Given the description of an element on the screen output the (x, y) to click on. 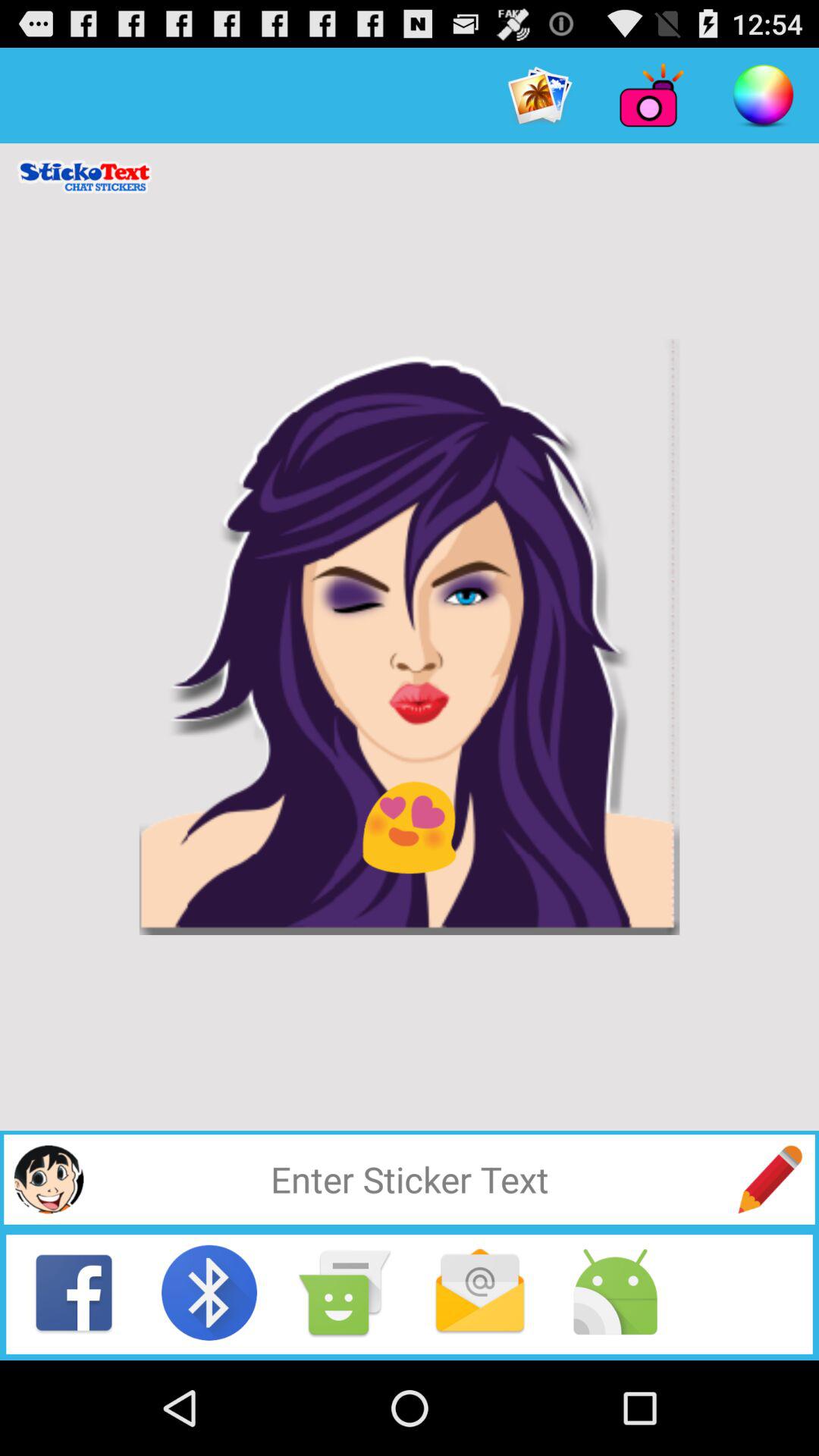
share with bluetooth (209, 1292)
